Given the description of an element on the screen output the (x, y) to click on. 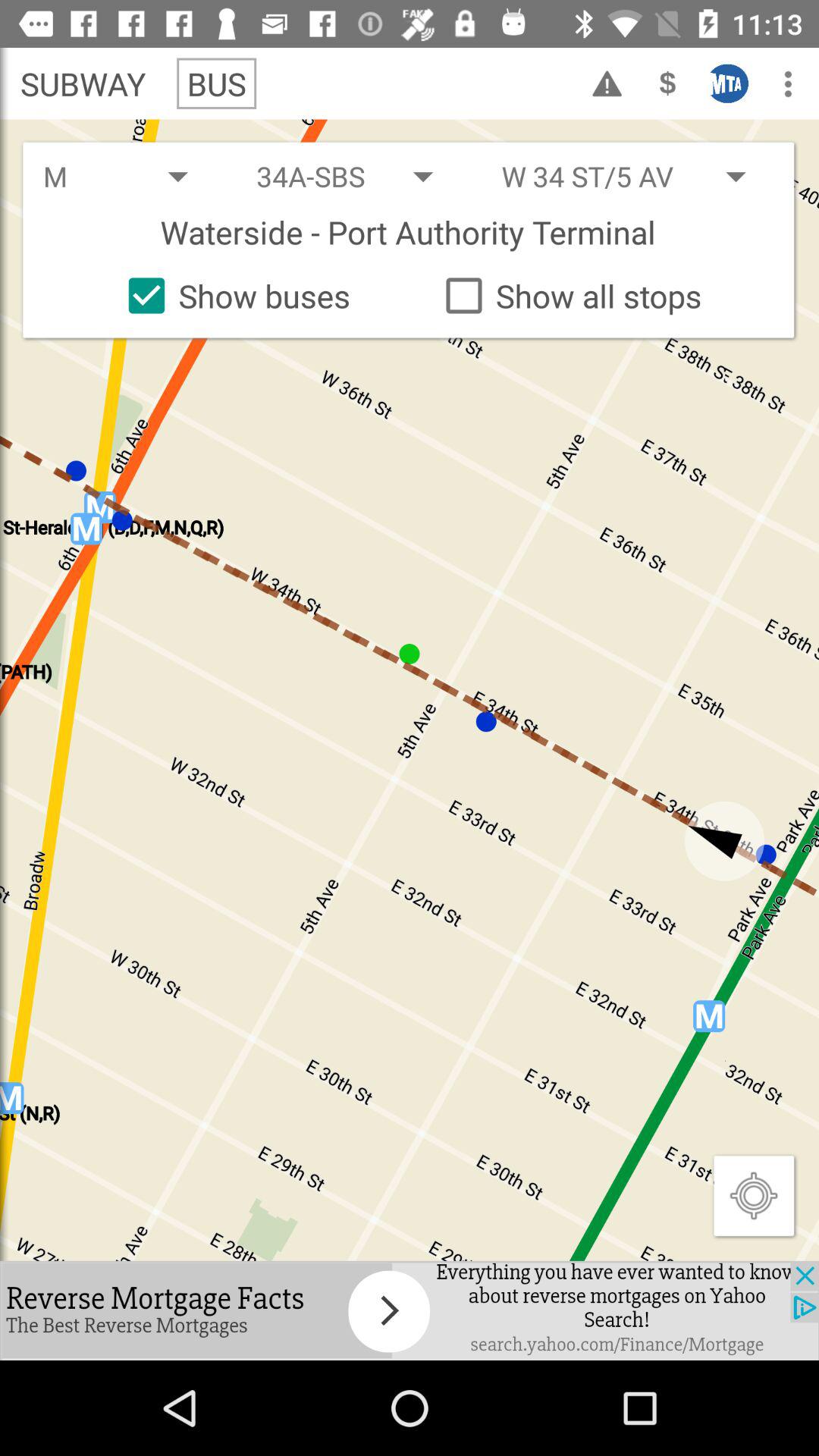
view advertisement (409, 1310)
